Given the description of an element on the screen output the (x, y) to click on. 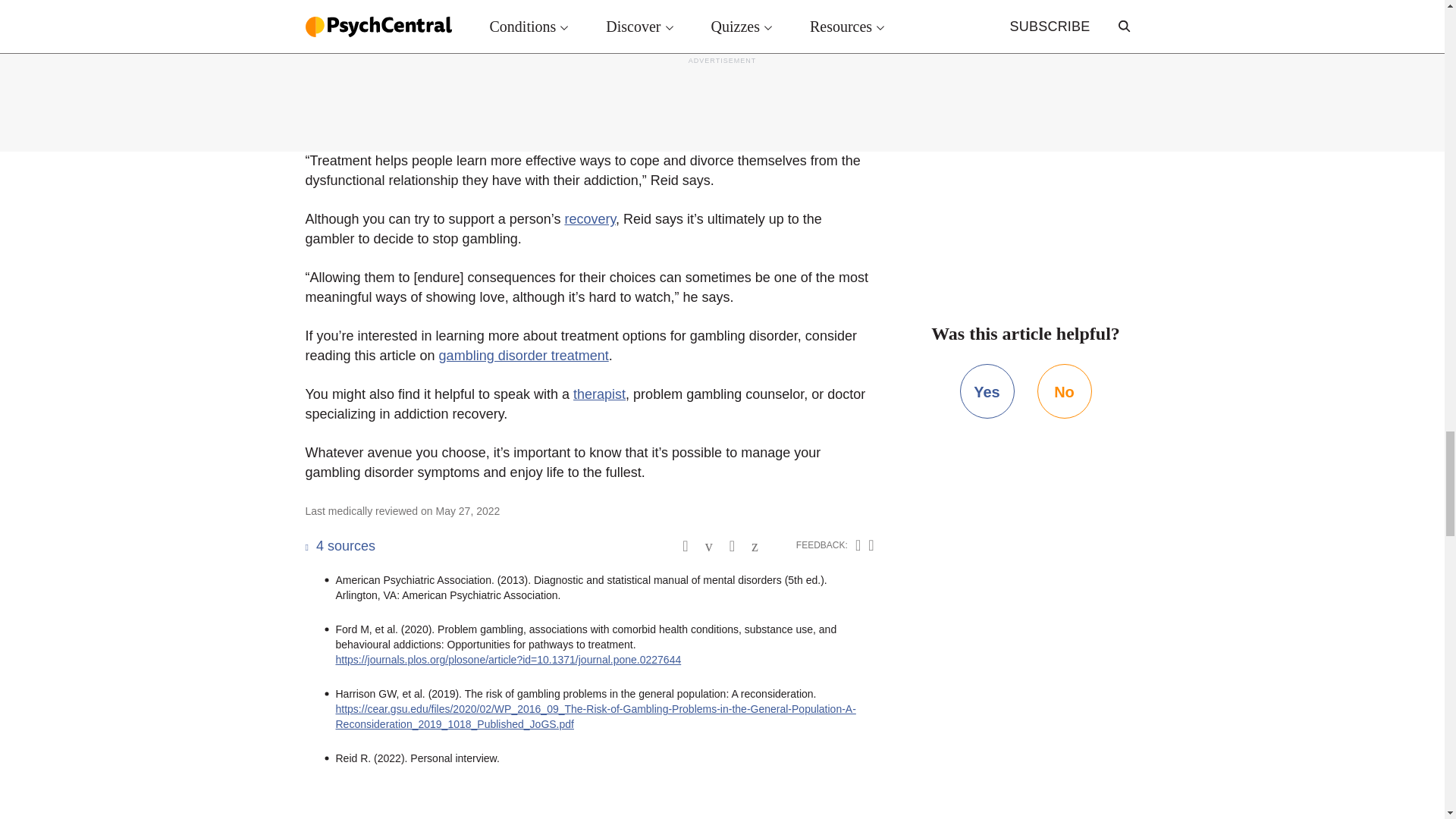
Share on Facebook (708, 545)
Share on Pinterest (754, 545)
Print this page (684, 545)
Share on Twitter (732, 545)
